Given the description of an element on the screen output the (x, y) to click on. 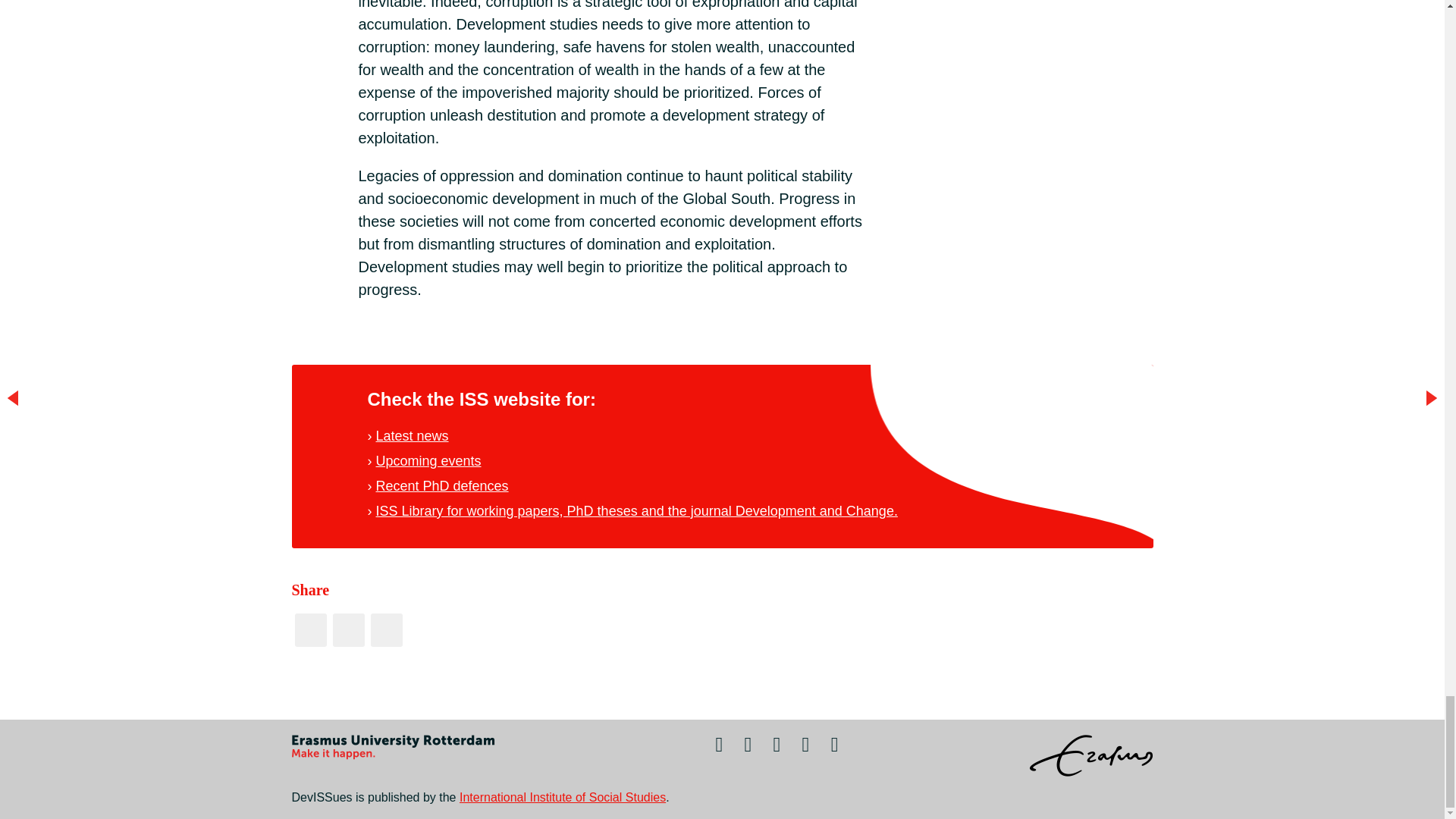
International Institute of Social Studies (562, 797)
Latest news (411, 435)
Share to Twitter (347, 630)
Share to Linkedin (385, 630)
Recent PhD defences (441, 485)
Upcoming events (428, 460)
Share to Facebook (310, 630)
